Given the description of an element on the screen output the (x, y) to click on. 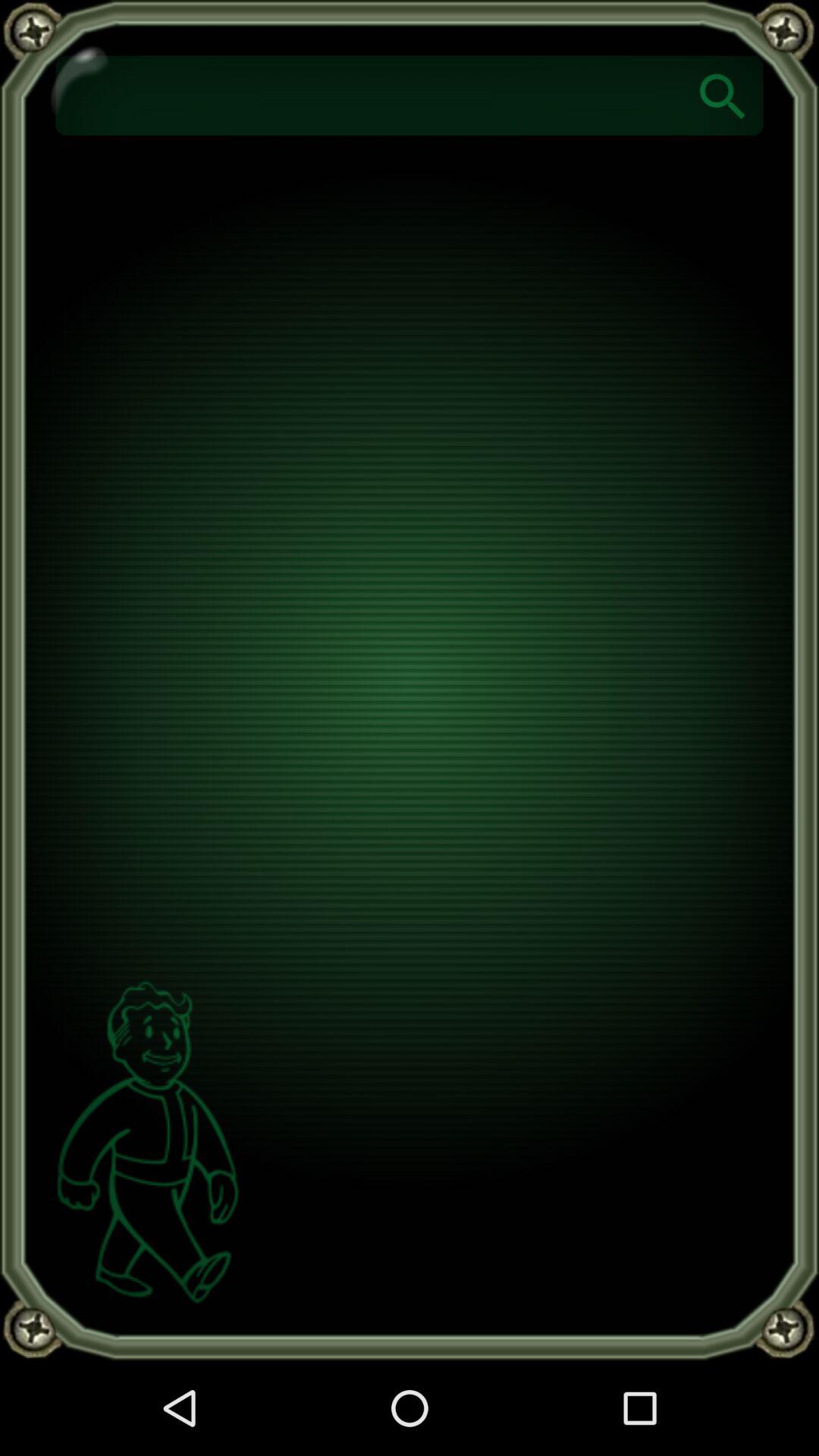
search (723, 95)
